Given the description of an element on the screen output the (x, y) to click on. 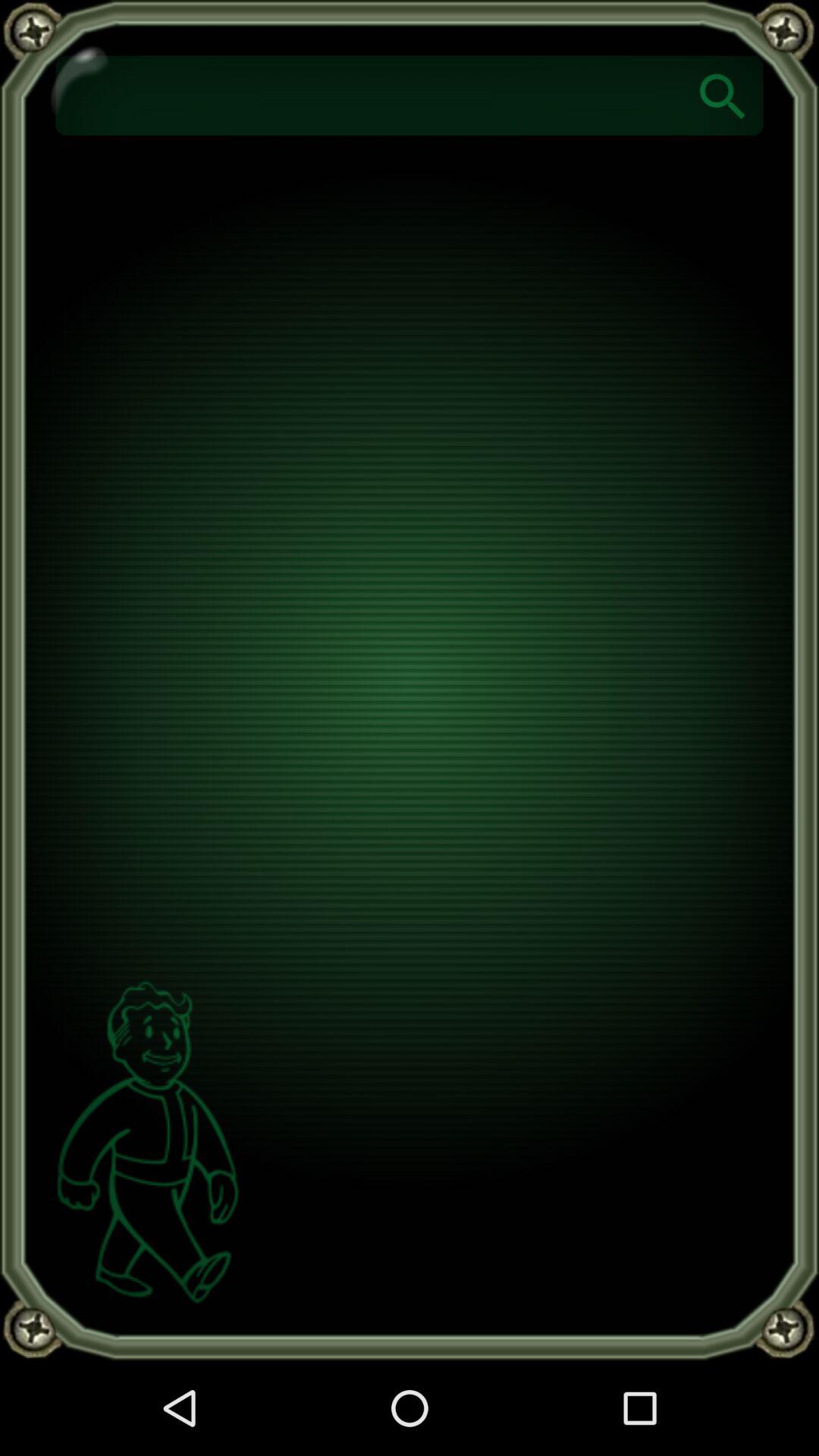
search (723, 95)
